Given the description of an element on the screen output the (x, y) to click on. 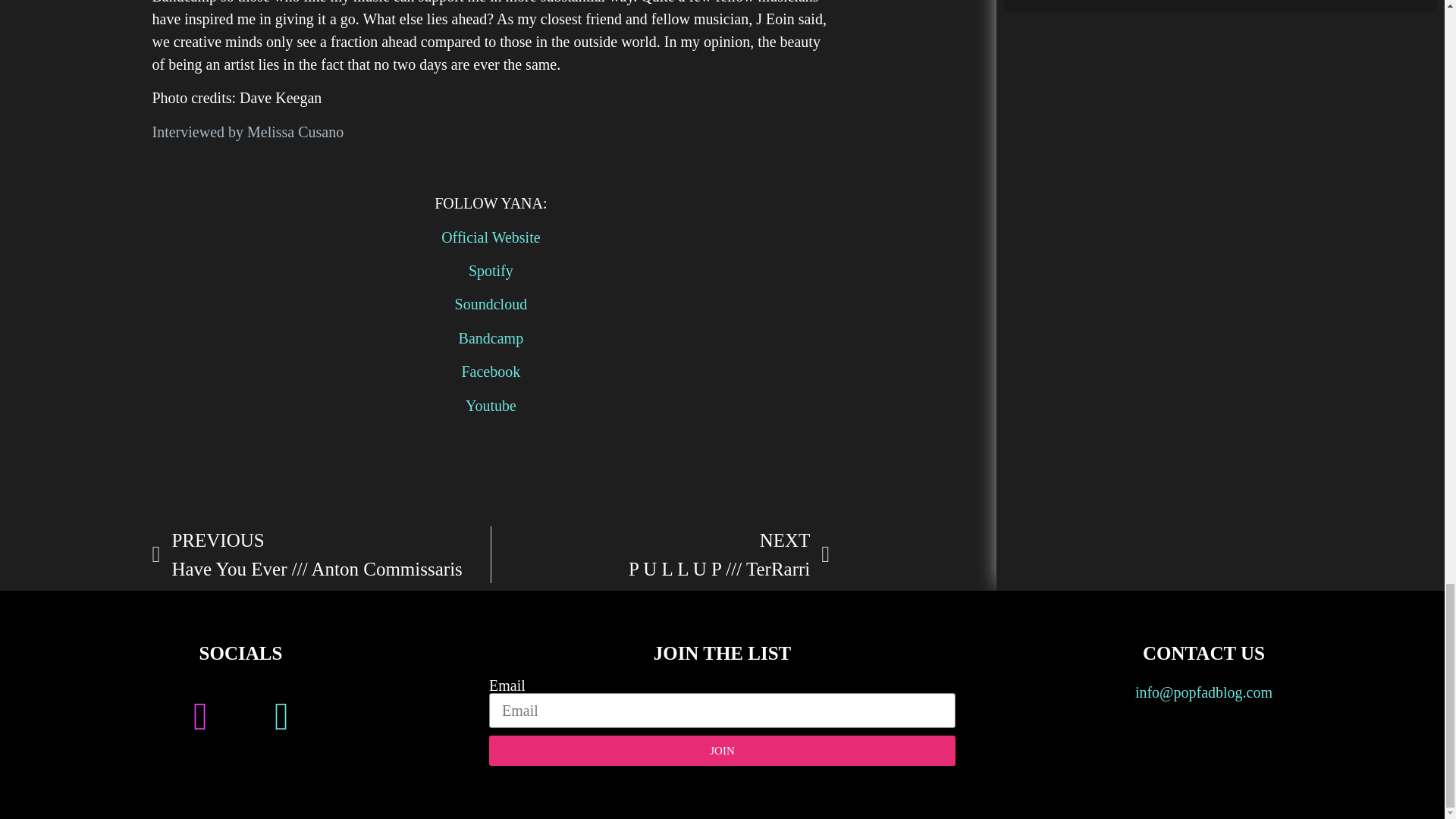
Soundcloud (490, 303)
Bandcamp (491, 338)
Spotify (490, 270)
Facebook (490, 371)
Youtube (490, 405)
Official Website (490, 237)
